Given the description of an element on the screen output the (x, y) to click on. 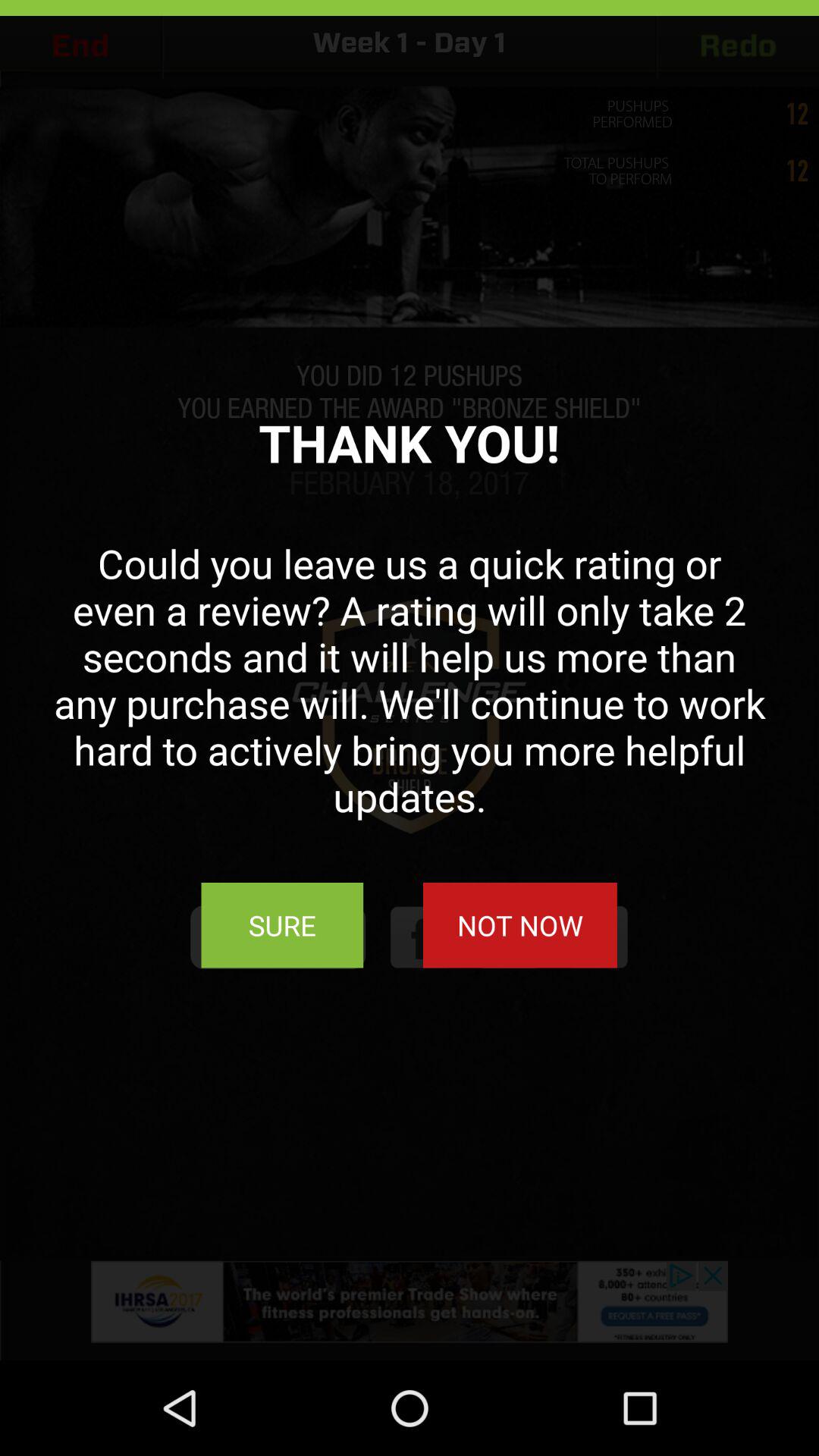
turn off icon below could you leave app (520, 925)
